Given the description of an element on the screen output the (x, y) to click on. 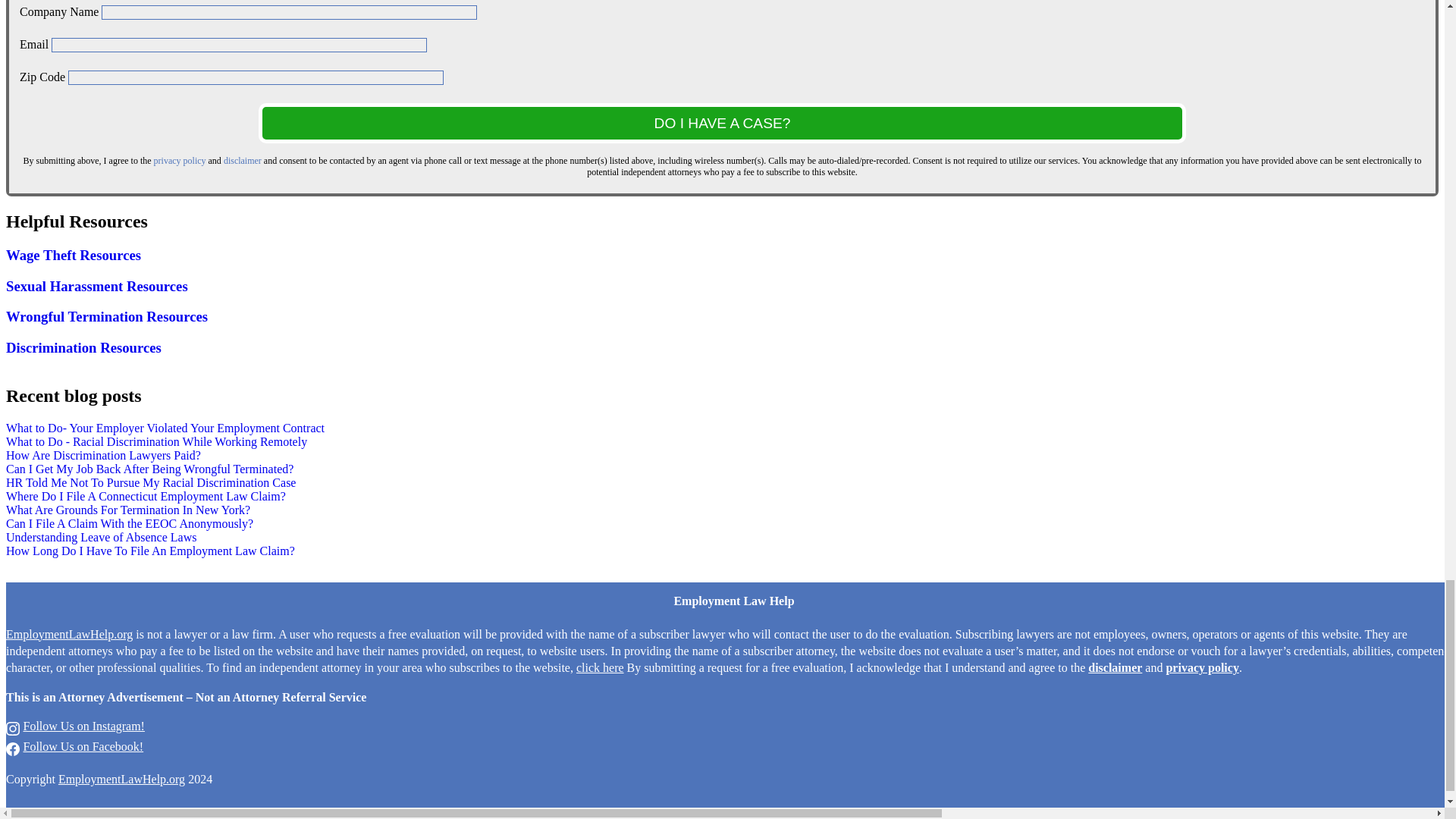
What to Do - Racial Discrimination While Working Remotely (156, 440)
What Are Grounds For Termination In New York? (127, 509)
disclaimer (1114, 667)
Can I Get My Job Back After Being Wrongful Terminated? (149, 468)
How Are Discrimination Lawyers Paid? (102, 454)
HR Told Me Not To Pursue My Racial Discrimination Case (150, 481)
disclaimer (243, 160)
Understanding Leave of Absence Laws (100, 536)
Where Do I File A Connecticut Employment Law Claim? (145, 495)
What to Do- Your Employer Violated Your Employment Contract (164, 427)
